Given the description of an element on the screen output the (x, y) to click on. 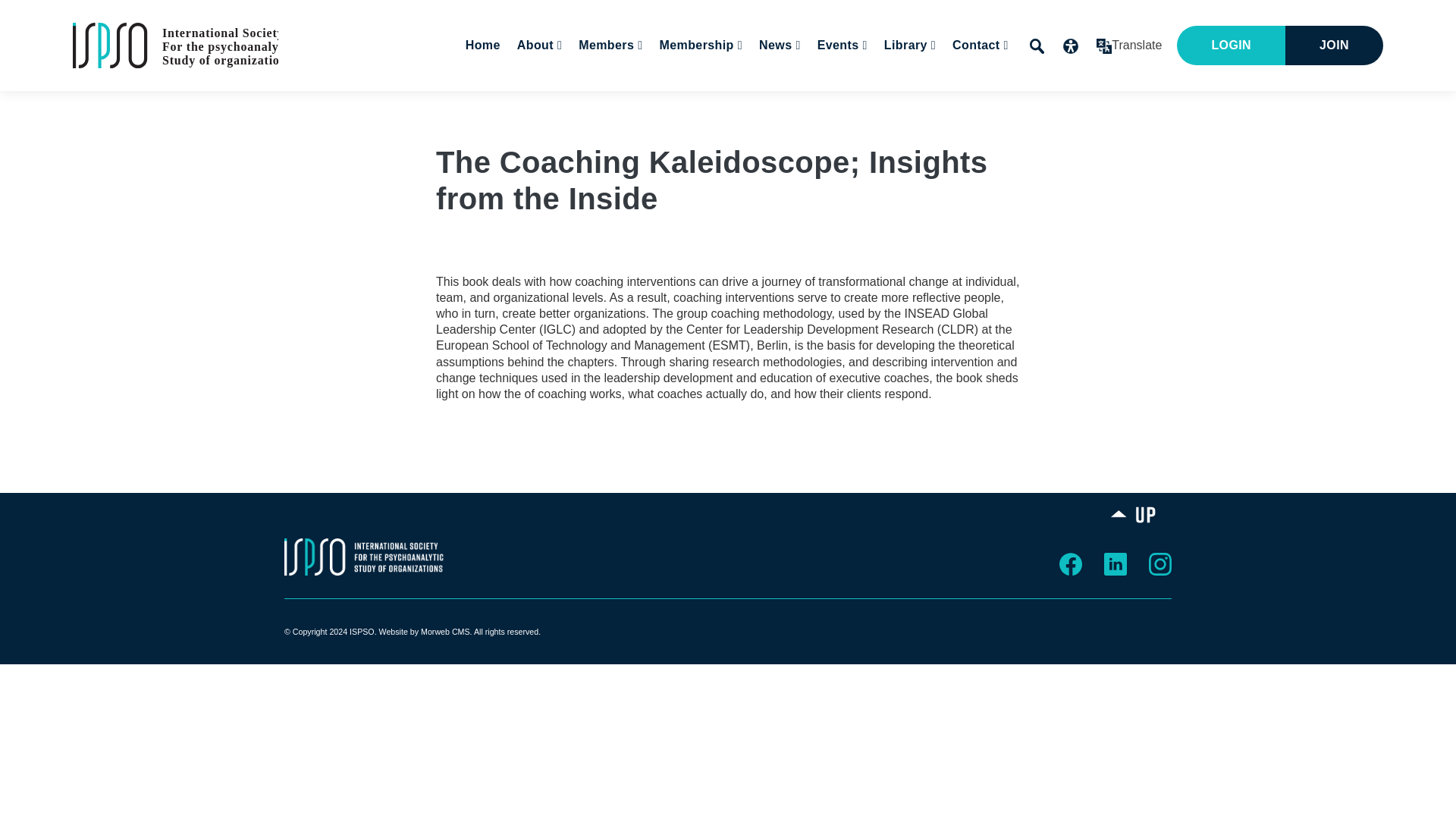
AM2024 Sofia, Bulgaria (925, 90)
Library (864, 90)
Events (839, 45)
Journals (862, 90)
Members Benefits (759, 90)
Members Space (690, 90)
Contact (978, 45)
Members (607, 45)
Membership Application (776, 90)
Annual Meeting Scholarship Fund (767, 90)
Past Presidents (660, 90)
Symposium Archive (944, 90)
Podcast Series (983, 90)
Bridger Award (647, 90)
